Given the description of an element on the screen output the (x, y) to click on. 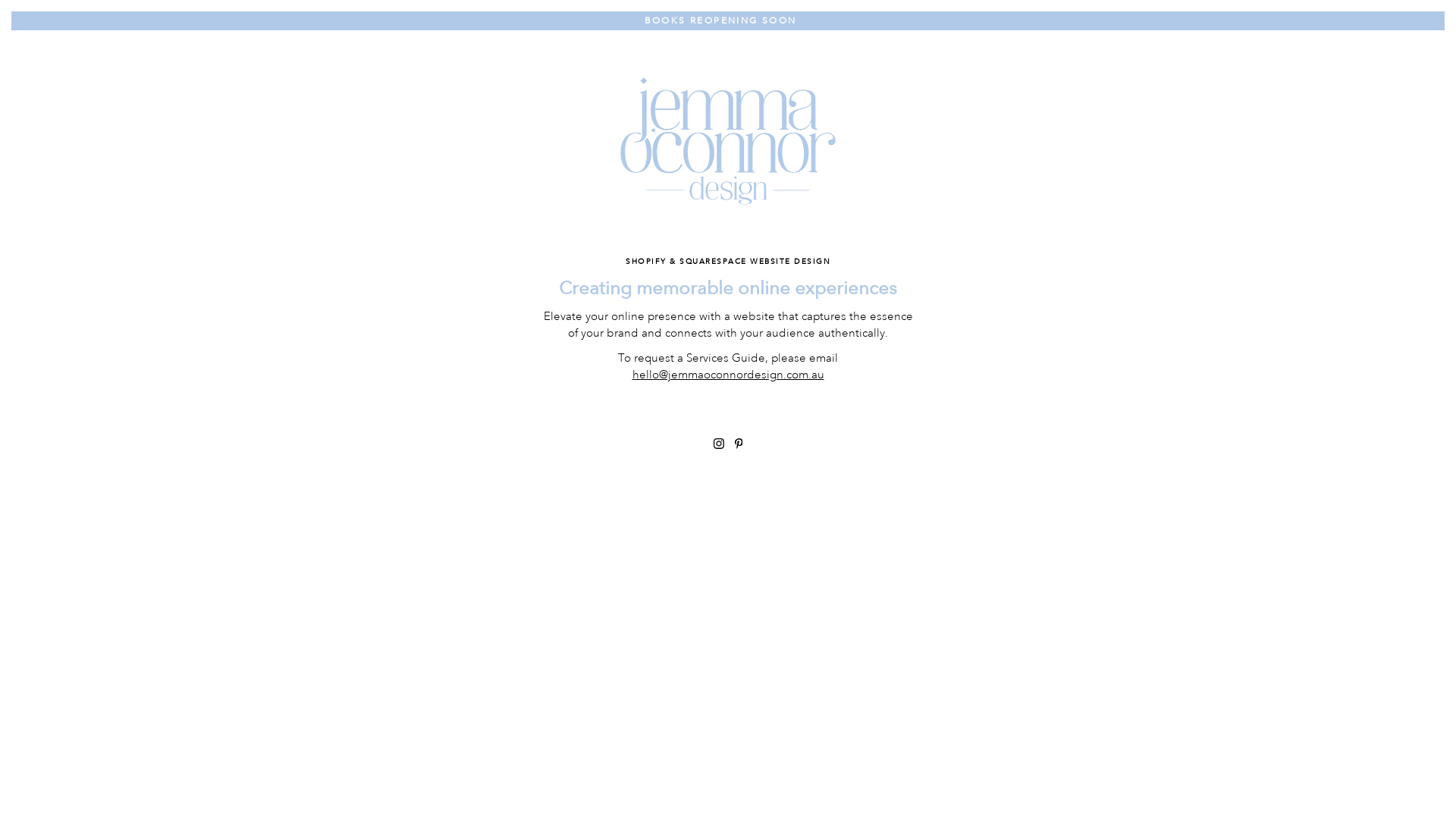
hello@jemmaoconnordesign.com.au Element type: text (728, 374)
